Given the description of an element on the screen output the (x, y) to click on. 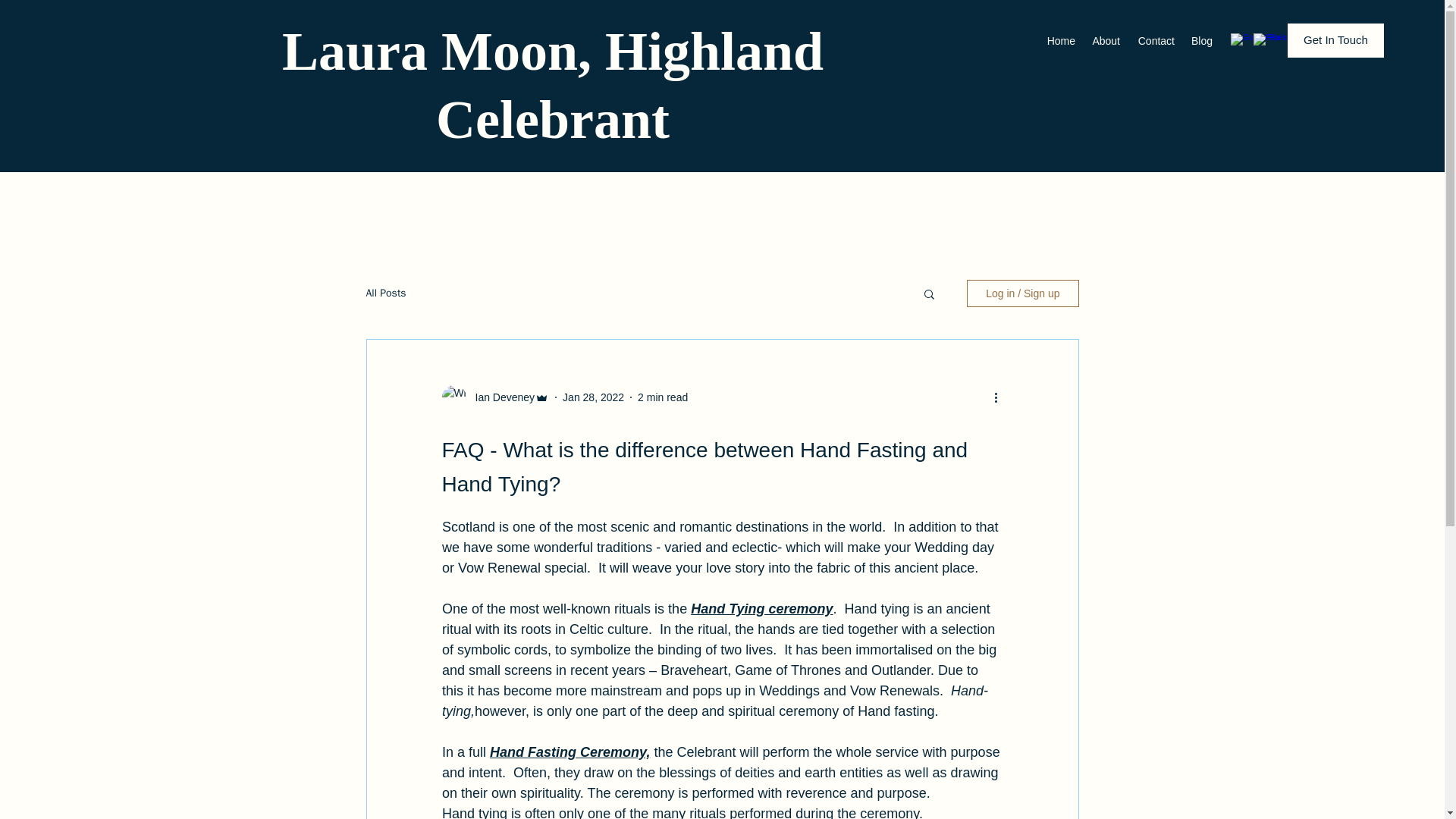
Contact (1154, 40)
All Posts (385, 293)
2 min read (662, 397)
Home (1060, 40)
Blog (1201, 40)
About (1104, 40)
Ian Deveney (499, 397)
Get In Touch (1335, 40)
Jan 28, 2022 (593, 397)
